Given the description of an element on the screen output the (x, y) to click on. 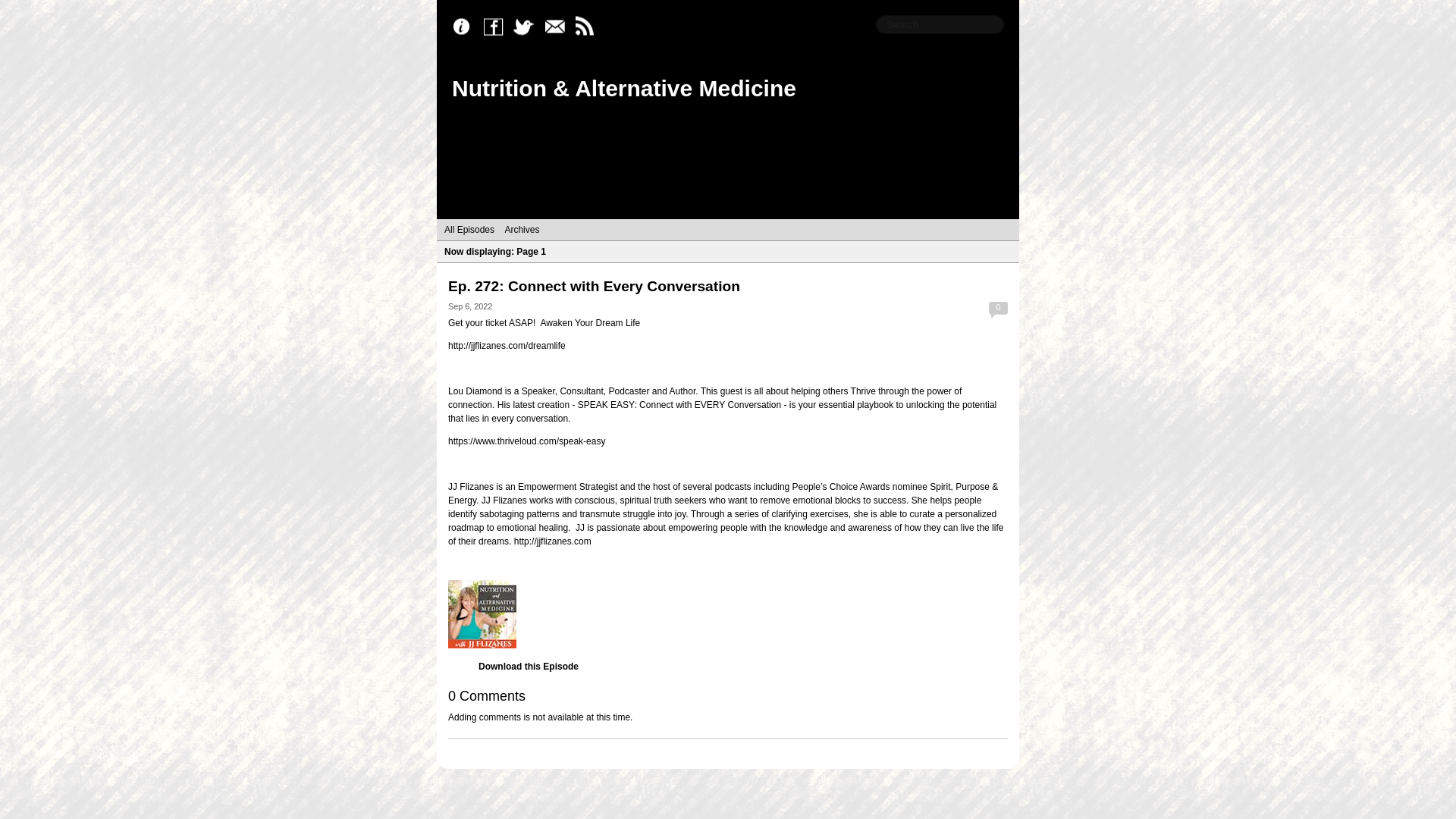
Libsyn Player (727, 613)
Twitter (527, 26)
Email (558, 26)
RSS Feed (588, 26)
Facebook (496, 26)
